Given the description of an element on the screen output the (x, y) to click on. 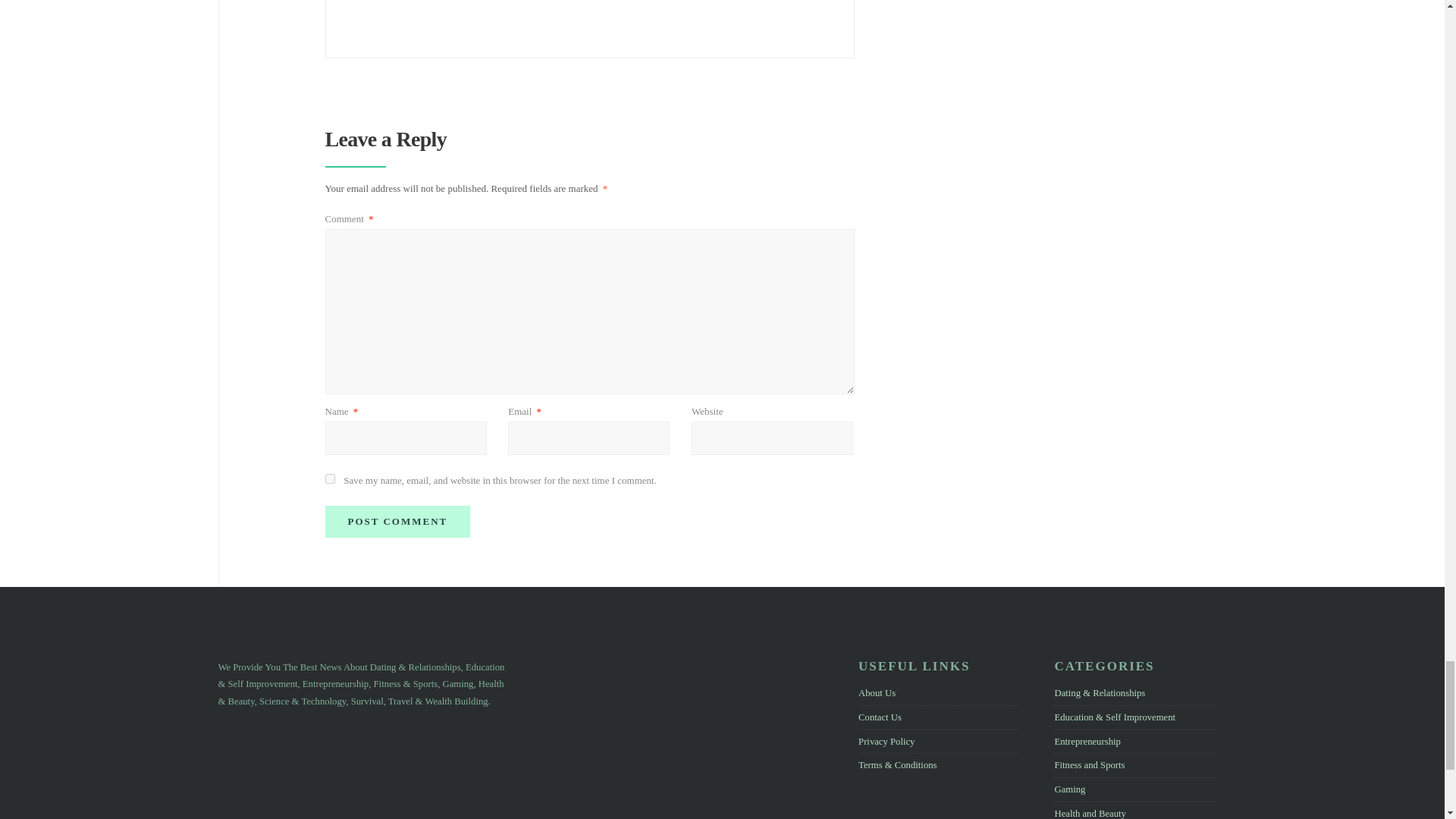
yes (329, 479)
Post Comment (397, 521)
